Given the description of an element on the screen output the (x, y) to click on. 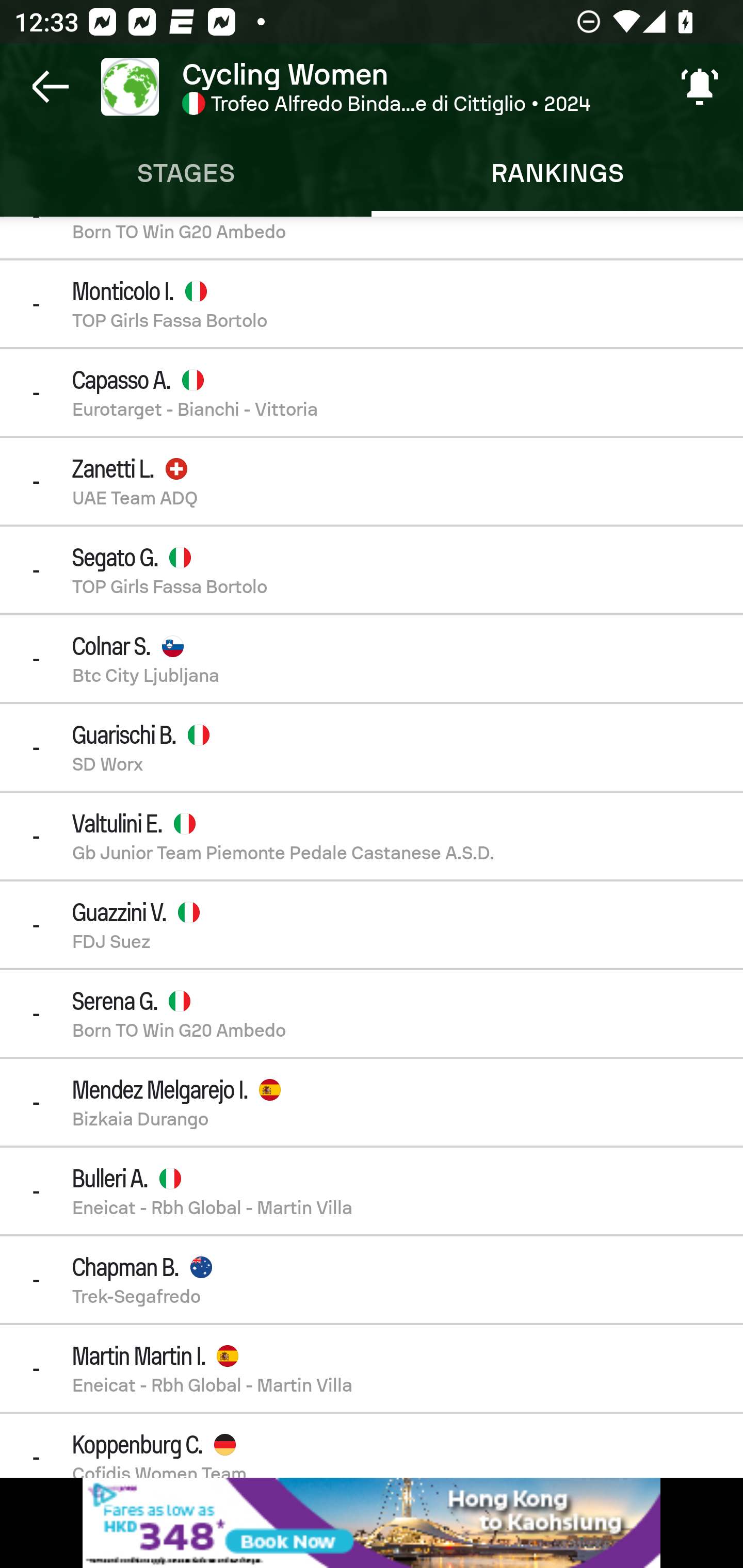
Navigate up (50, 86)
Stages STAGES (185, 173)
- Monticolo I. TOP Girls Fassa Bortolo (371, 303)
- Capasso A. Eurotarget - Bianchi - Vittoria (371, 392)
- Zanetti L. UAE Team ADQ (371, 481)
- Segato G. TOP Girls Fassa Bortolo (371, 569)
- Colnar S. Btc City Ljubljana (371, 658)
- Guarischi B. SD Worx (371, 747)
- Guazzini V. FDJ Suez (371, 924)
- Serena G. Born TO Win G20 Ambedo (371, 1013)
- Mendez Melgarejo I. Bizkaia Durango (371, 1102)
- Bulleri A. Eneicat - Rbh Global - Martin Villa (371, 1190)
- Chapman B. Trek-Segafredo (371, 1279)
- Koppenburg C. Cofidis Women Team (371, 1445)
ijqm75ea_320x50 (371, 1522)
